Given the description of an element on the screen output the (x, y) to click on. 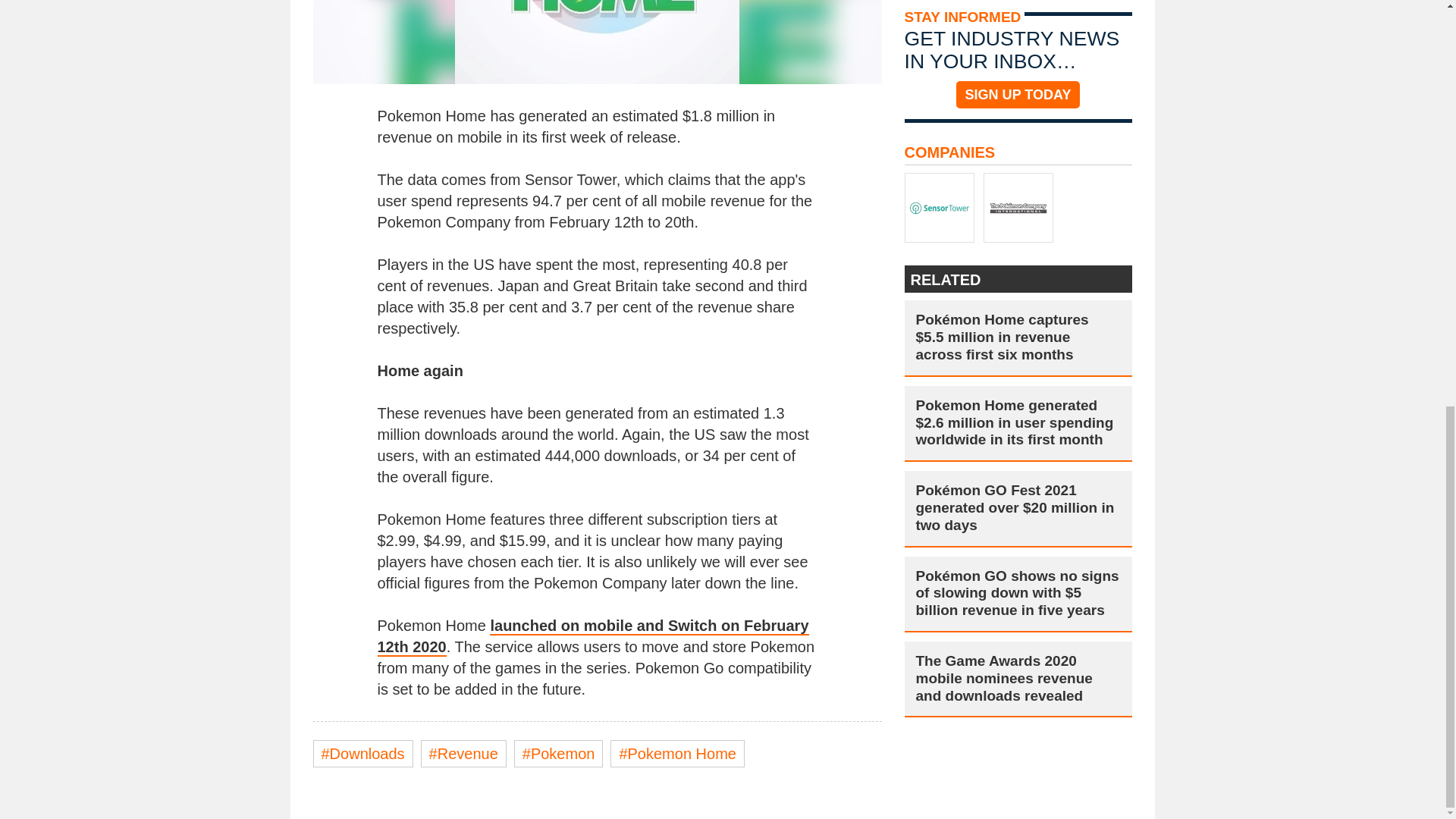
launched on mobile and Switch on February 12th 2020 (593, 636)
